Given the description of an element on the screen output the (x, y) to click on. 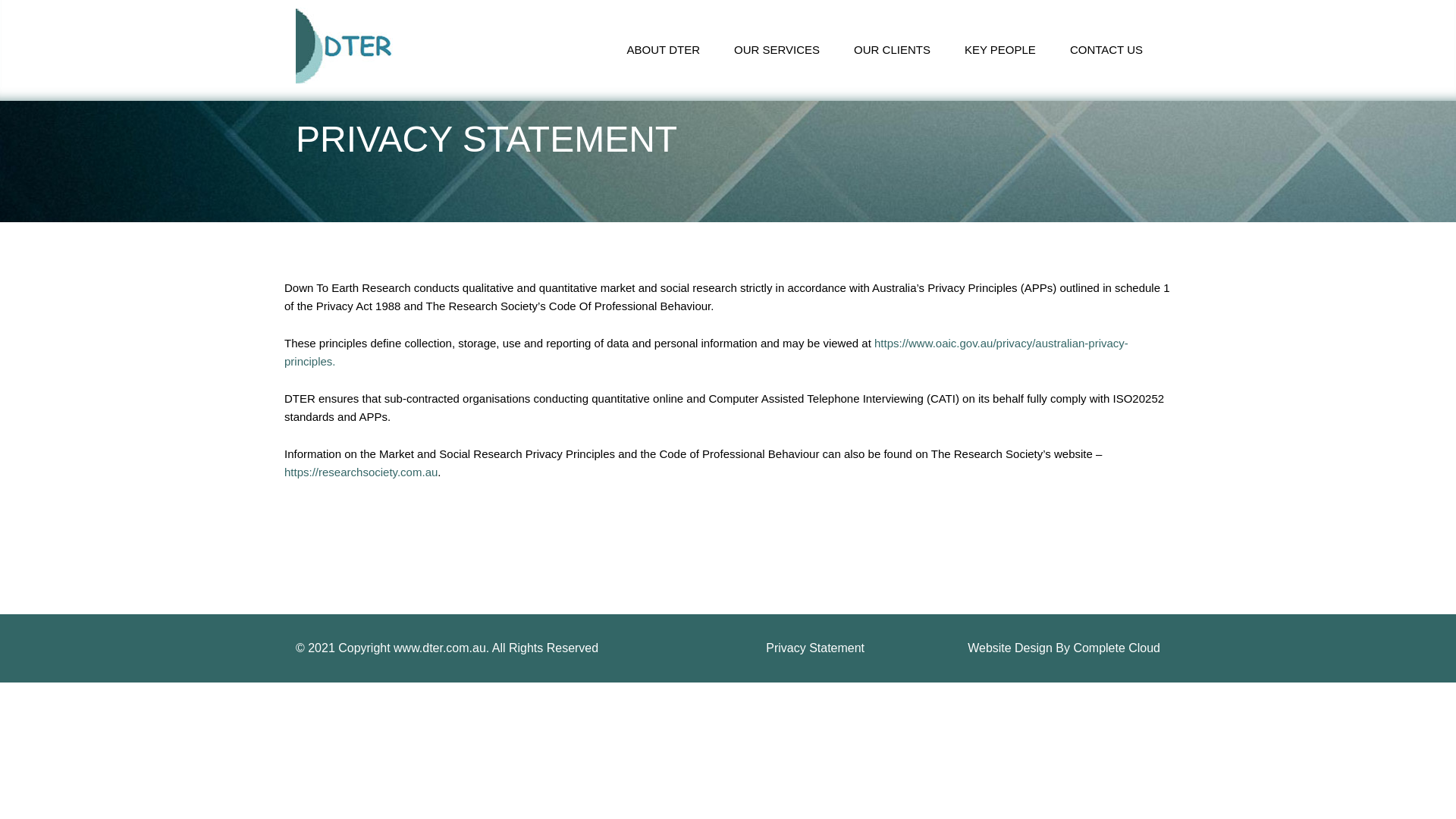
OUR CLIENTS Element type: text (892, 49)
ABOUT DTER Element type: text (663, 49)
CONTACT US Element type: text (1106, 49)
KEY PEOPLE Element type: text (999, 49)
Website Design Element type: text (1009, 647)
https://researchsociety.com.au Element type: text (360, 471)
OUR SERVICES Element type: text (776, 49)
Privacy Statement Element type: text (814, 647)
